Given the description of an element on the screen output the (x, y) to click on. 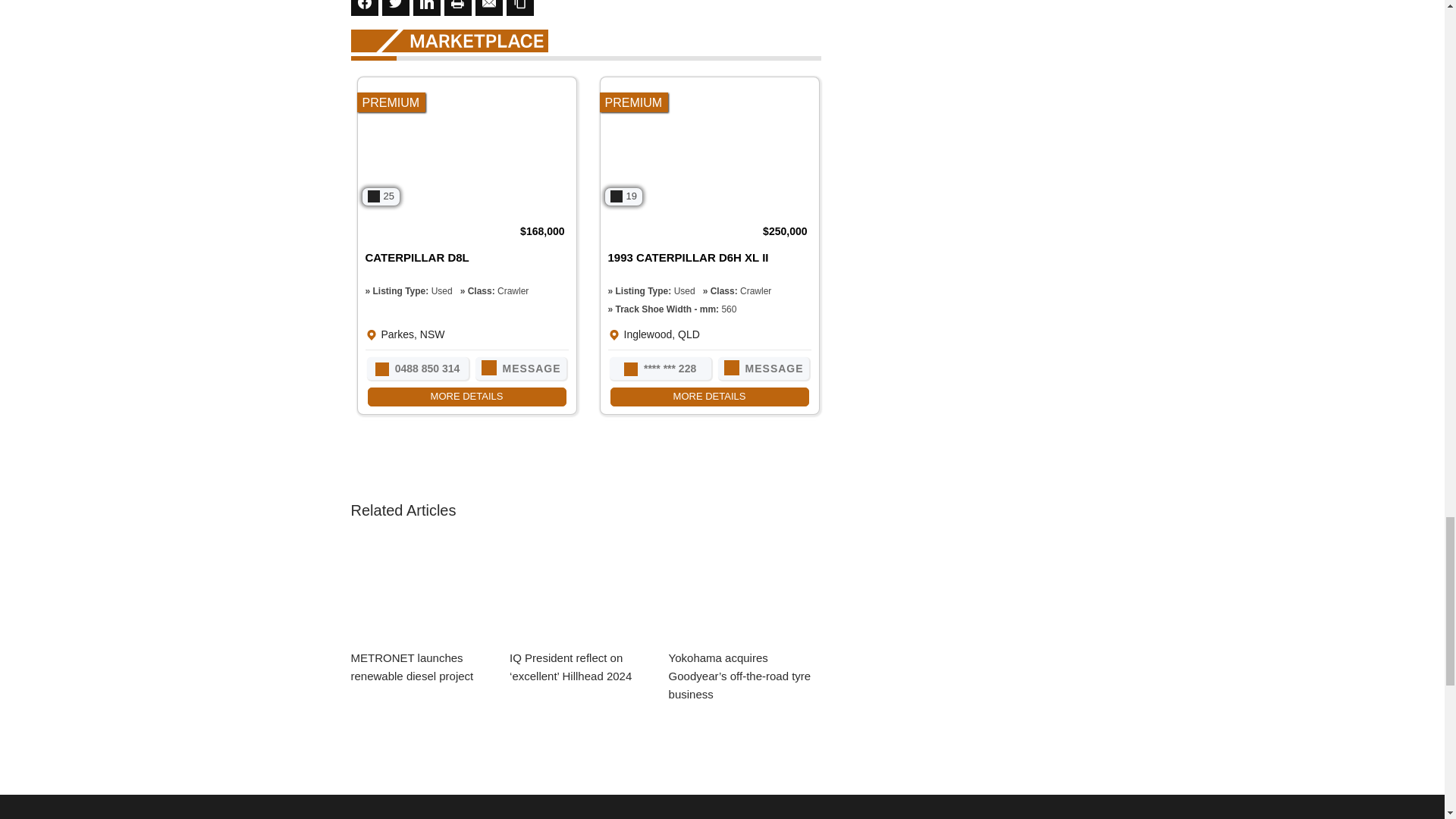
Share on Twitter (395, 7)
Share on Print (457, 7)
Share on Copy Link (520, 7)
Share on Email (488, 7)
Share on LinkedIn (425, 7)
Share on Facebook (363, 7)
